Given the description of an element on the screen output the (x, y) to click on. 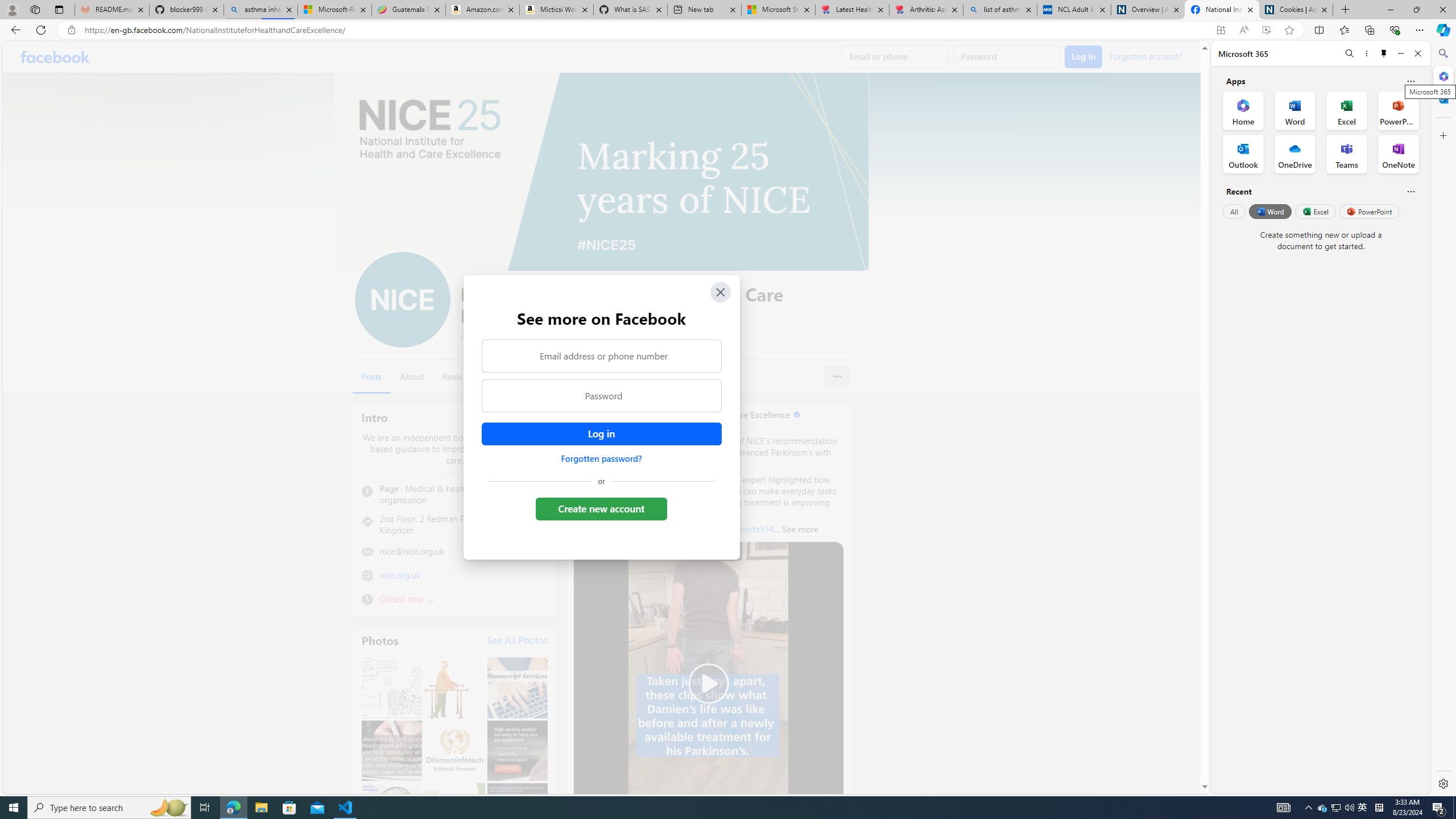
All (1233, 210)
Arthritis: Ask Health Professionals (925, 9)
App available. Install Facebook (1220, 29)
asthma inhaler - Search (260, 9)
Create new account (601, 508)
Email or phone (895, 56)
